Given the description of an element on the screen output the (x, y) to click on. 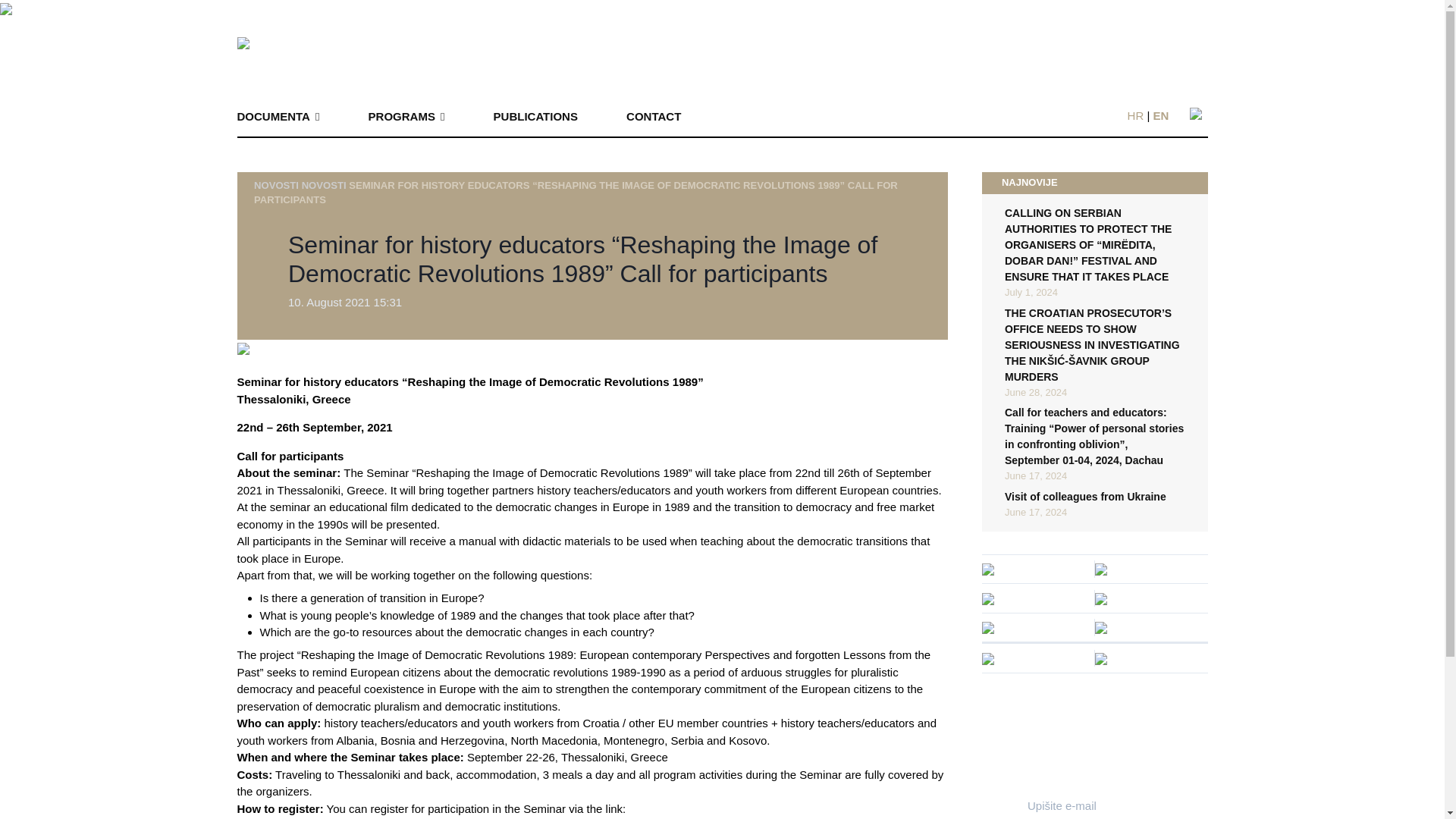
CONTACT (653, 117)
DOCUMENTA (278, 117)
EN (1161, 115)
PROGRAMS (406, 117)
PUBLICATIONS (534, 117)
HR (1135, 115)
NOVOSTI (323, 184)
NOVOSTI (275, 184)
